Given the description of an element on the screen output the (x, y) to click on. 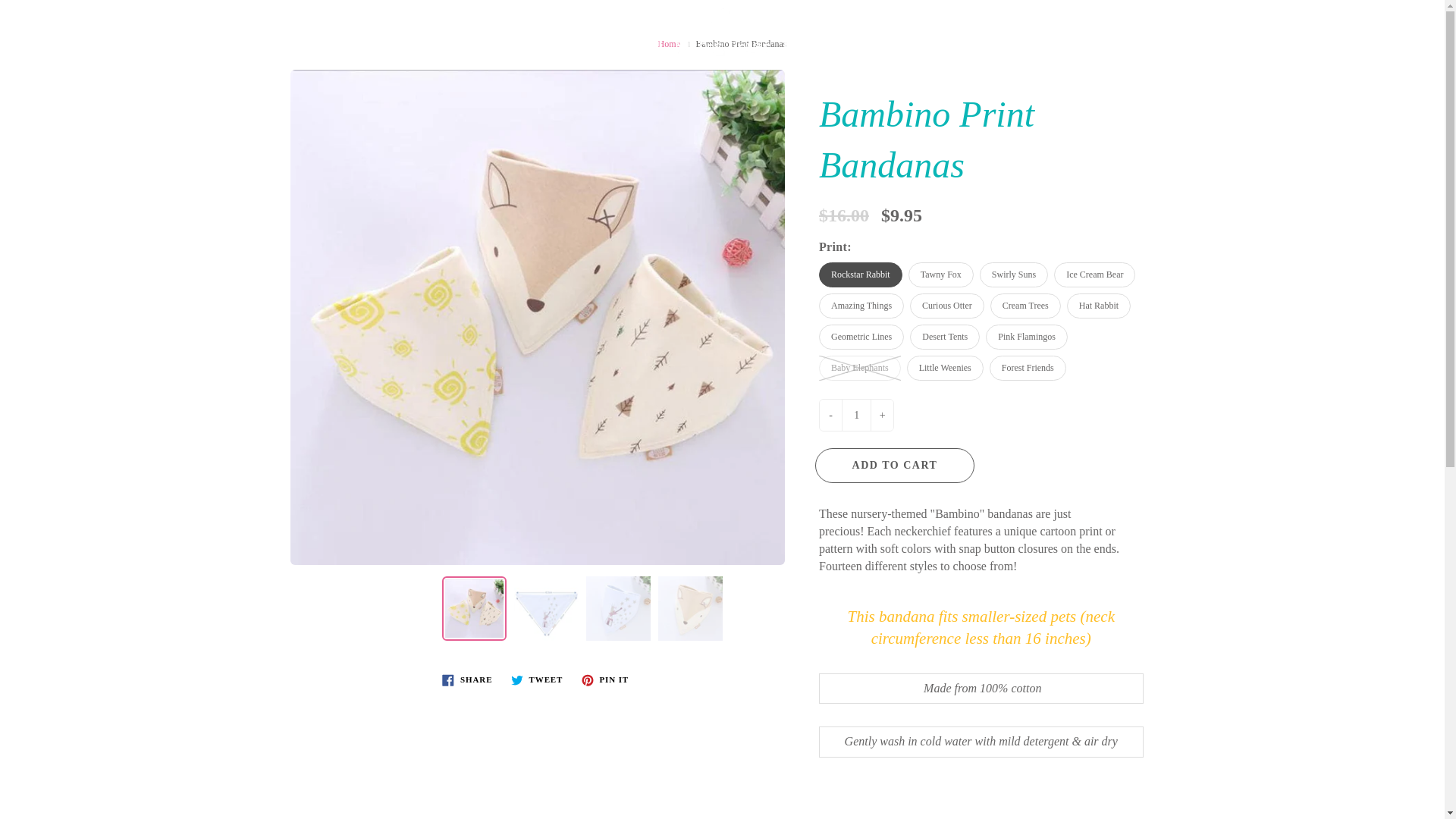
Home (668, 43)
Home (668, 43)
Press space bar to toggle menu (36, 9)
1 (855, 414)
